Given the description of an element on the screen output the (x, y) to click on. 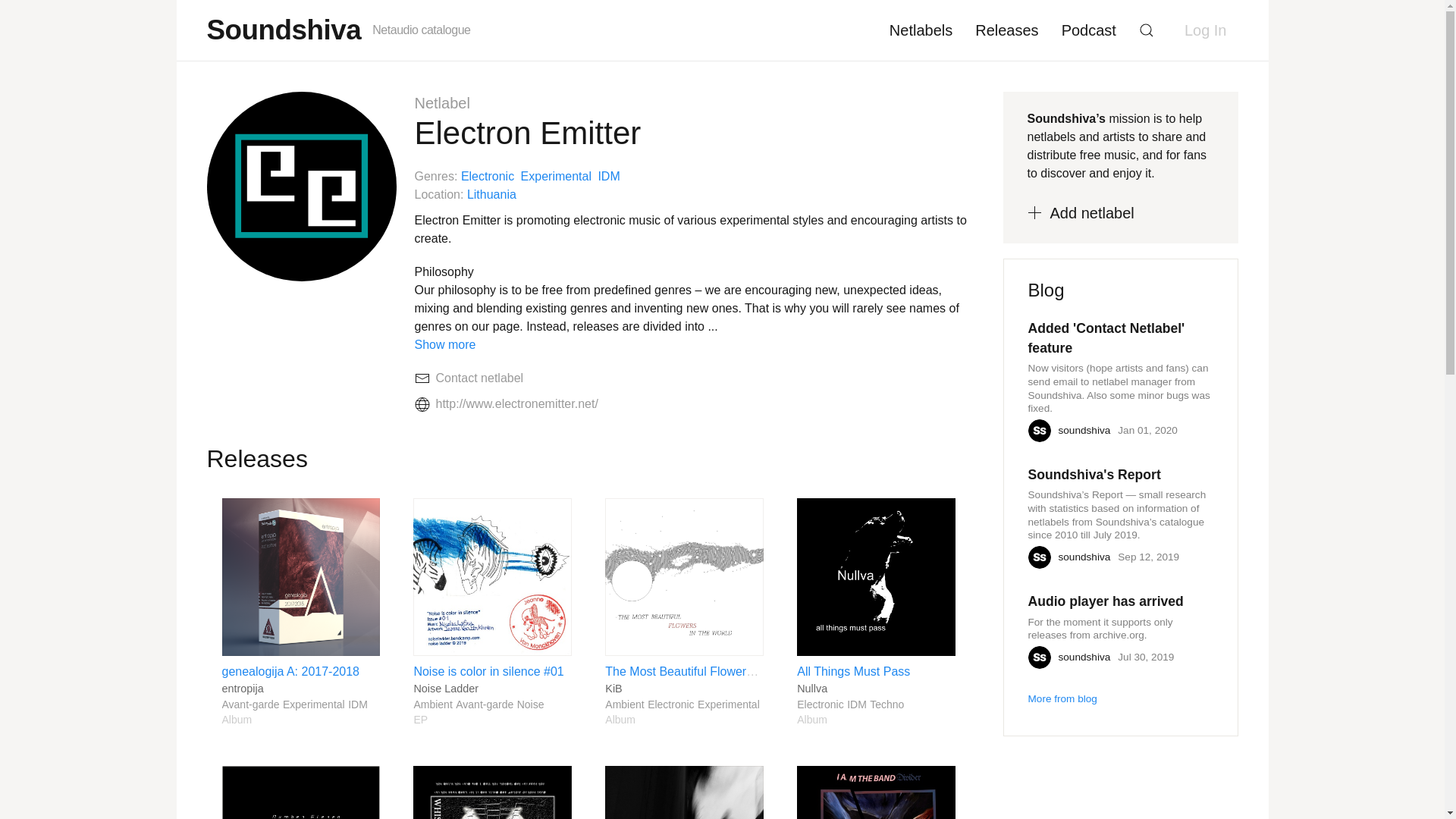
Releases (1006, 30)
Release 'genealogija A: 2017-2018' by entropija (290, 671)
Log In (1206, 30)
Show more (444, 344)
Ambient (432, 704)
Avant-garde (484, 704)
Release 'genealogija A: 2017-2018' by entropija (299, 576)
genealogija A: 2017-2018 (290, 671)
Avant-garde (250, 704)
Soundshiva Podcast (1087, 30)
Log In (1206, 30)
Contact netlabel (692, 378)
Lithuania (491, 194)
Soundshiva (283, 29)
